Given the description of an element on the screen output the (x, y) to click on. 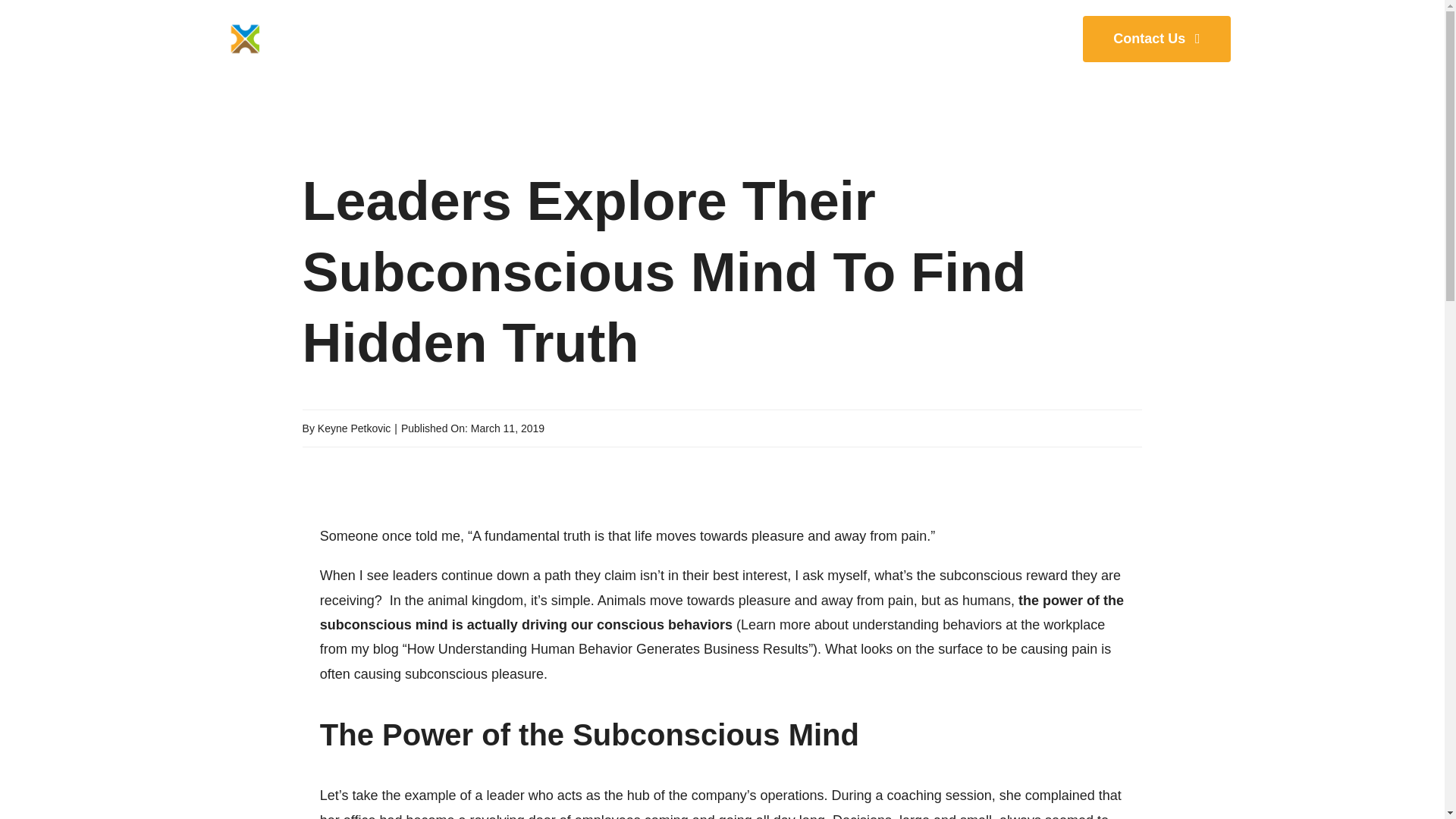
About Us (970, 38)
Contact Us Now (1156, 38)
How Understanding Human Behavior Generates Business Results (607, 648)
Resources (850, 38)
Posts by Keyne Petkovic (354, 428)
Contact Us (1156, 38)
Our Events (733, 38)
Coaching Programs (583, 38)
Keyne Petkovic (354, 428)
